Given the description of an element on the screen output the (x, y) to click on. 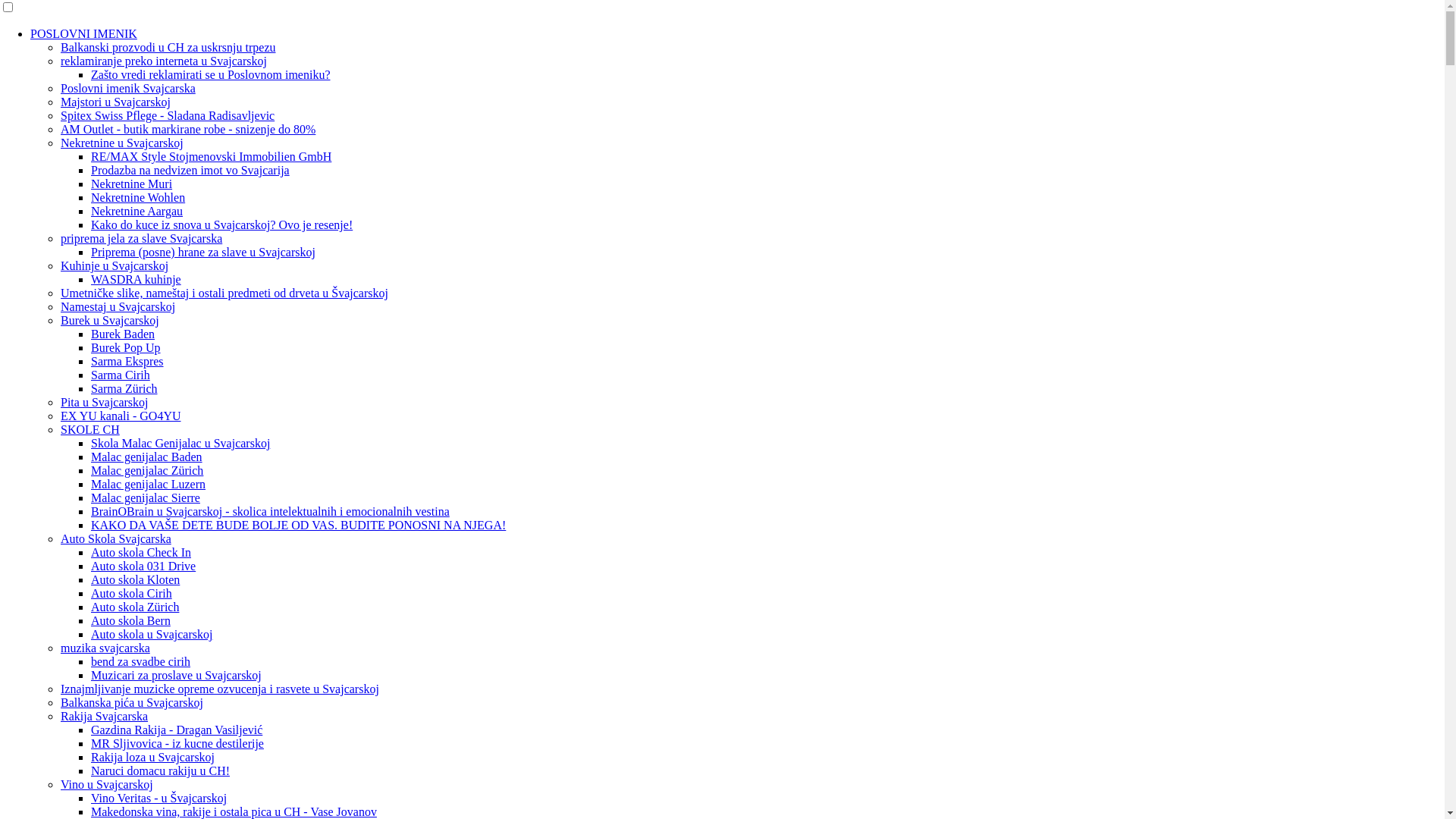
Kuhinje u Svajcarskoj Element type: text (114, 265)
POSLOVNI IMENIK Element type: text (83, 33)
EX YU kanali - GO4YU Element type: text (120, 415)
Malac genijalac Luzern Element type: text (148, 483)
Spitex Swiss Pflege - Sladana Radisavljevic Element type: text (167, 115)
Burek Pop Up Element type: text (125, 347)
RE/MAX Style Stojmenovski Immobilien GmbH Element type: text (211, 156)
Auto skola Cirih Element type: text (131, 592)
Makedonska vina, rakije i ostala pica u CH - Vase Jovanov Element type: text (233, 811)
Rakija loza u Svajcarskoj Element type: text (152, 756)
Burek u Svajcarskoj Element type: text (109, 319)
Malac genijalac Sierre Element type: text (145, 497)
Auto skola Bern Element type: text (130, 620)
Poslovni imenik Svajcarska Element type: text (127, 87)
Rakija Svajcarska Element type: text (103, 715)
Pita u Svajcarskoj Element type: text (104, 401)
priprema jela za slave Svajcarska Element type: text (141, 238)
Sarma Cirih Element type: text (120, 374)
muzika svajcarska Element type: text (105, 647)
Priprema (posne) hrane za slave u Svajcarskoj Element type: text (203, 251)
Balkanski prozvodi u CH za uskrsnju trpezu Element type: text (168, 46)
WASDRA kuhinje Element type: text (136, 279)
Auto Skola Svajcarska Element type: text (115, 538)
Nekretnine u Svajcarskoj Element type: text (121, 142)
reklamiranje preko interneta u Svajcarskoj Element type: text (163, 60)
Auto skola 031 Drive Element type: text (143, 565)
MR Sljivovica - iz kucne destilerije Element type: text (177, 743)
Namestaj u Svajcarskoj Element type: text (117, 306)
Muzicari za proslave u Svajcarskoj Element type: text (176, 674)
Nekretnine Wohlen Element type: text (138, 197)
AM Outlet - butik markirane robe - snizenje do 80% Element type: text (187, 128)
Vino u Svajcarskoj Element type: text (106, 784)
Majstori u Svajcarskoj Element type: text (115, 101)
Naruci domacu rakiju u CH! Element type: text (160, 770)
bend za svadbe cirih Element type: text (140, 661)
Auto skola Kloten Element type: text (135, 579)
Auto skola u Svajcarskoj Element type: text (151, 633)
Sarma Ekspres Element type: text (127, 360)
Nekretnine Aargau Element type: text (136, 210)
Burek Baden Element type: text (122, 333)
Auto skola Check In Element type: text (141, 552)
SKOLE CH Element type: text (89, 429)
Nekretnine Muri Element type: text (131, 183)
Skola Malac Genijalac u Svajcarskoj Element type: text (180, 442)
Malac genijalac Baden Element type: text (146, 456)
Kako do kuce iz snova u Svajcarskoj? Ovo je resenje! Element type: text (221, 224)
Prodazba na nedvizen imot vo Svajcarija Element type: text (190, 169)
